Given the description of an element on the screen output the (x, y) to click on. 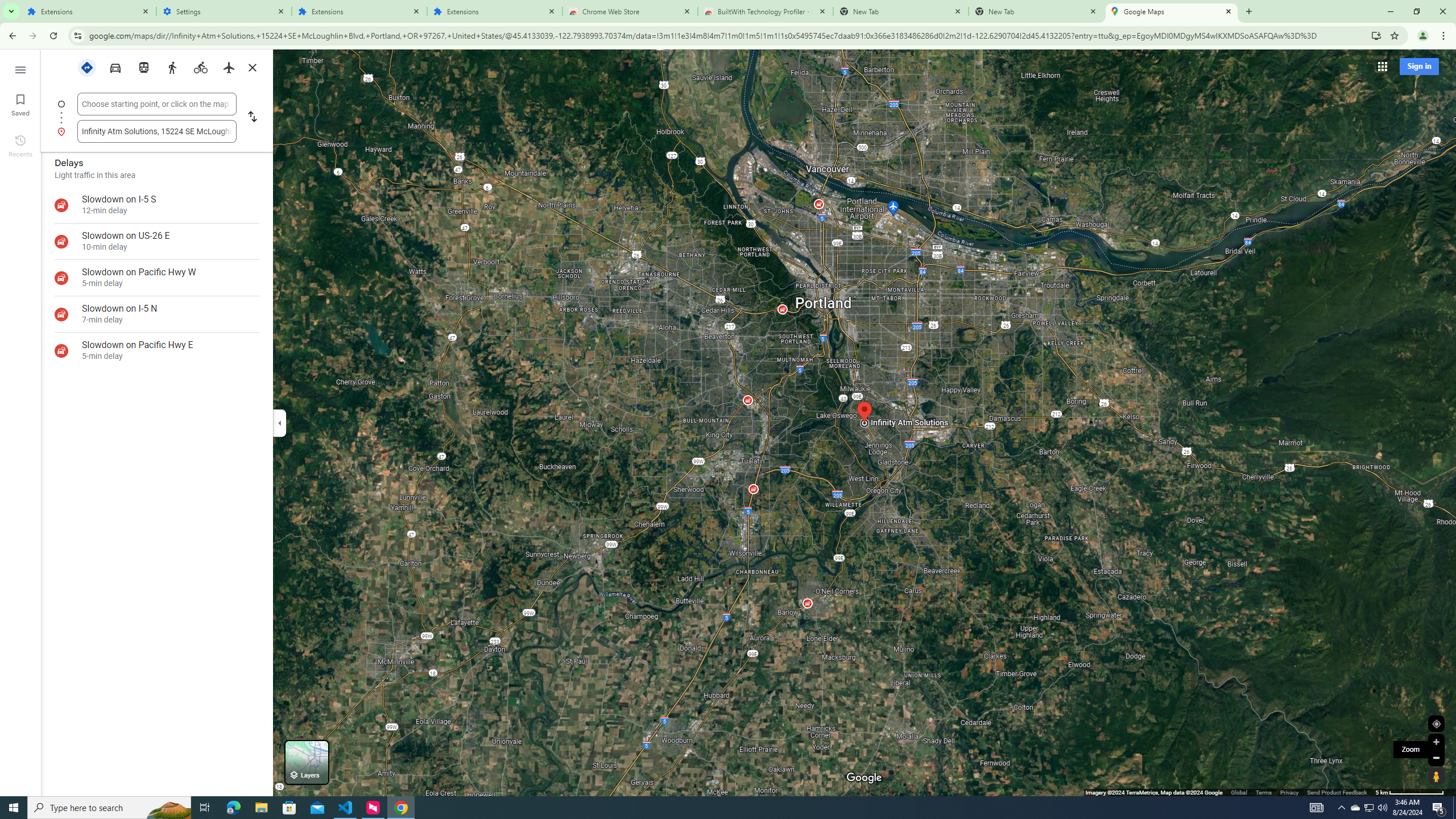
Walking (172, 66)
Flights (228, 66)
Zoom (1410, 749)
Driving (115, 66)
Walking (172, 67)
BuiltWith Technology Profiler - Chrome Web Store (765, 11)
Google Maps (1171, 11)
Show Your Location (1436, 723)
Collapse side panel (279, 422)
